Given the description of an element on the screen output the (x, y) to click on. 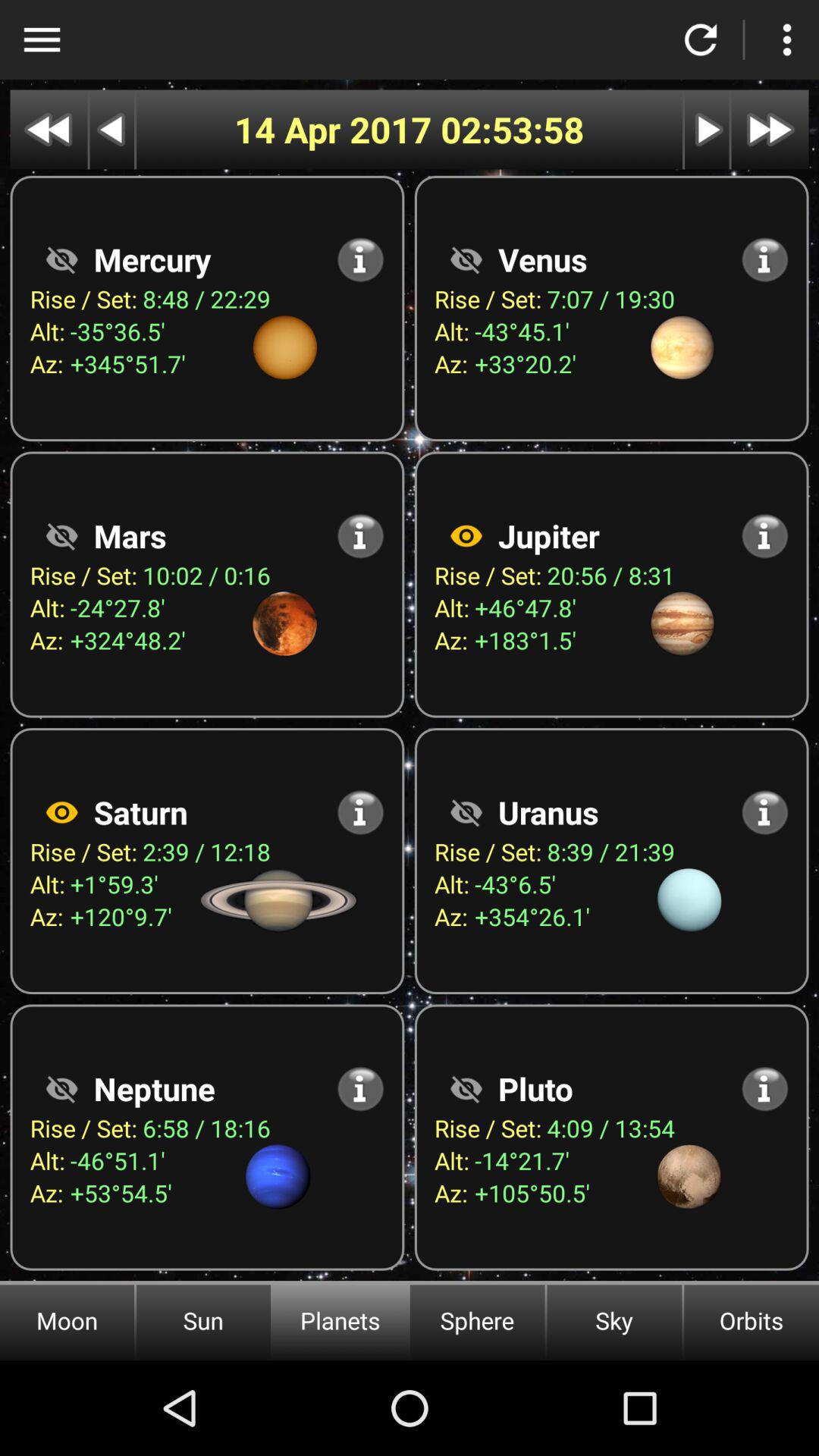
information option (360, 536)
